Given the description of an element on the screen output the (x, y) to click on. 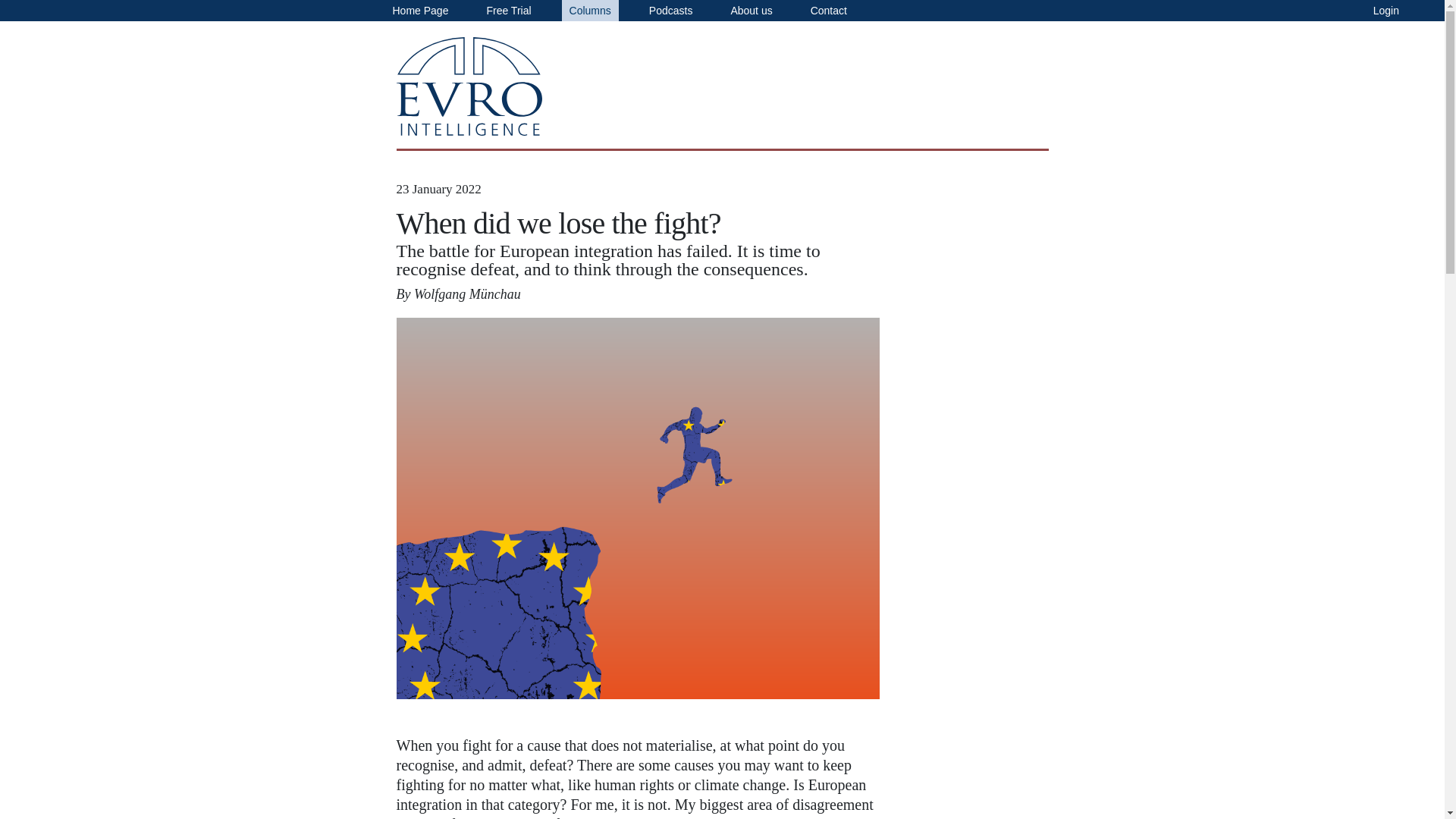
Login (1386, 10)
Columns (590, 10)
Columns (590, 10)
Login (1386, 10)
Home Page (420, 10)
Podcasts (671, 10)
Podcasts (671, 10)
Free Trial (508, 10)
Home Page (420, 10)
Contact (828, 10)
Contact (828, 10)
About us (750, 10)
www.eurointelligence.com (468, 85)
Free Trial (508, 10)
About us (750, 10)
